Given the description of an element on the screen output the (x, y) to click on. 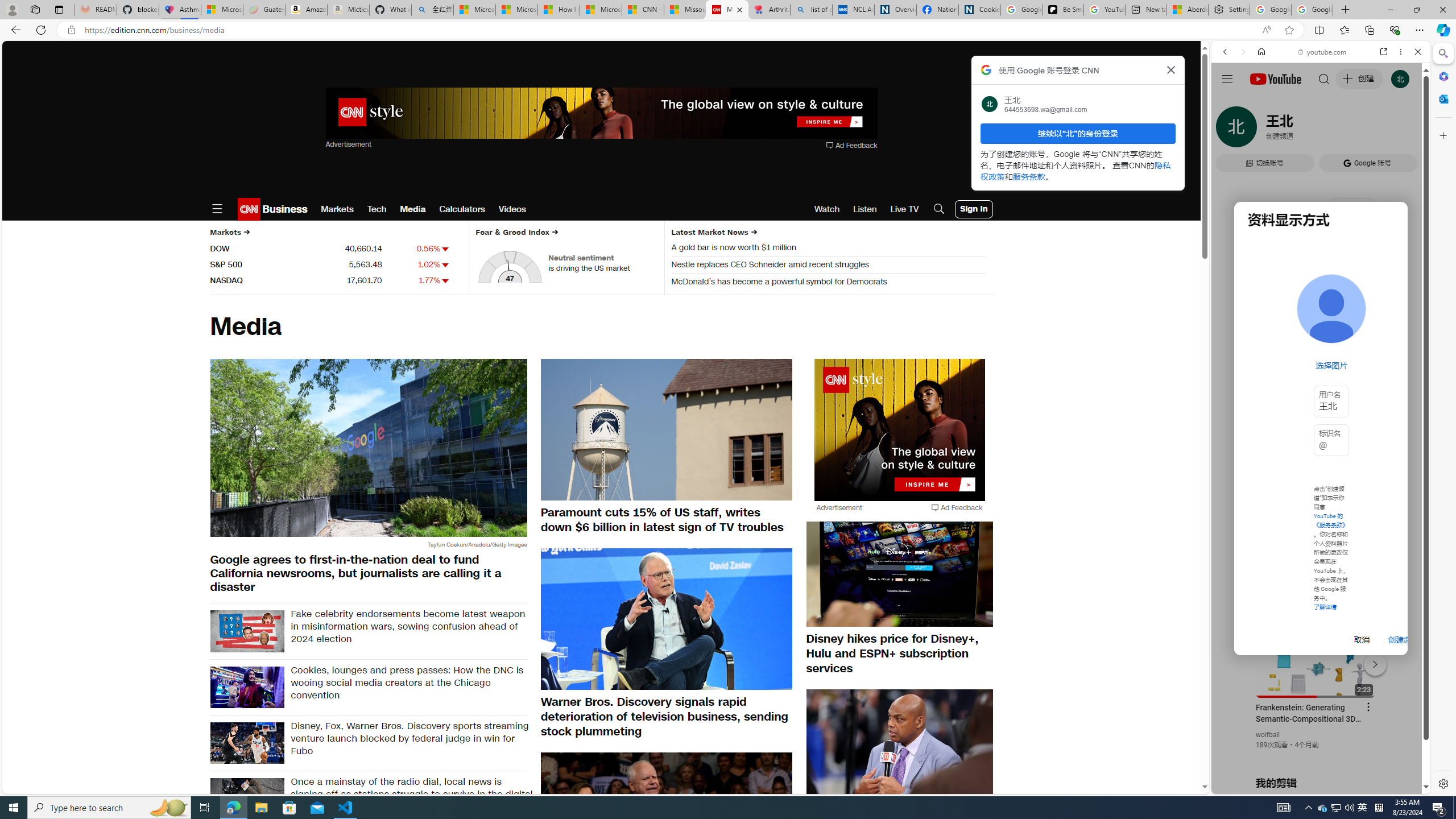
Class: dict_pnIcon rms_img (1312, 784)
SEARCH TOOLS (1350, 130)
A view of Google headquarters in Mountain View, California (368, 447)
Listen (864, 208)
Search Filter, WEB (1230, 129)
